Given the description of an element on the screen output the (x, y) to click on. 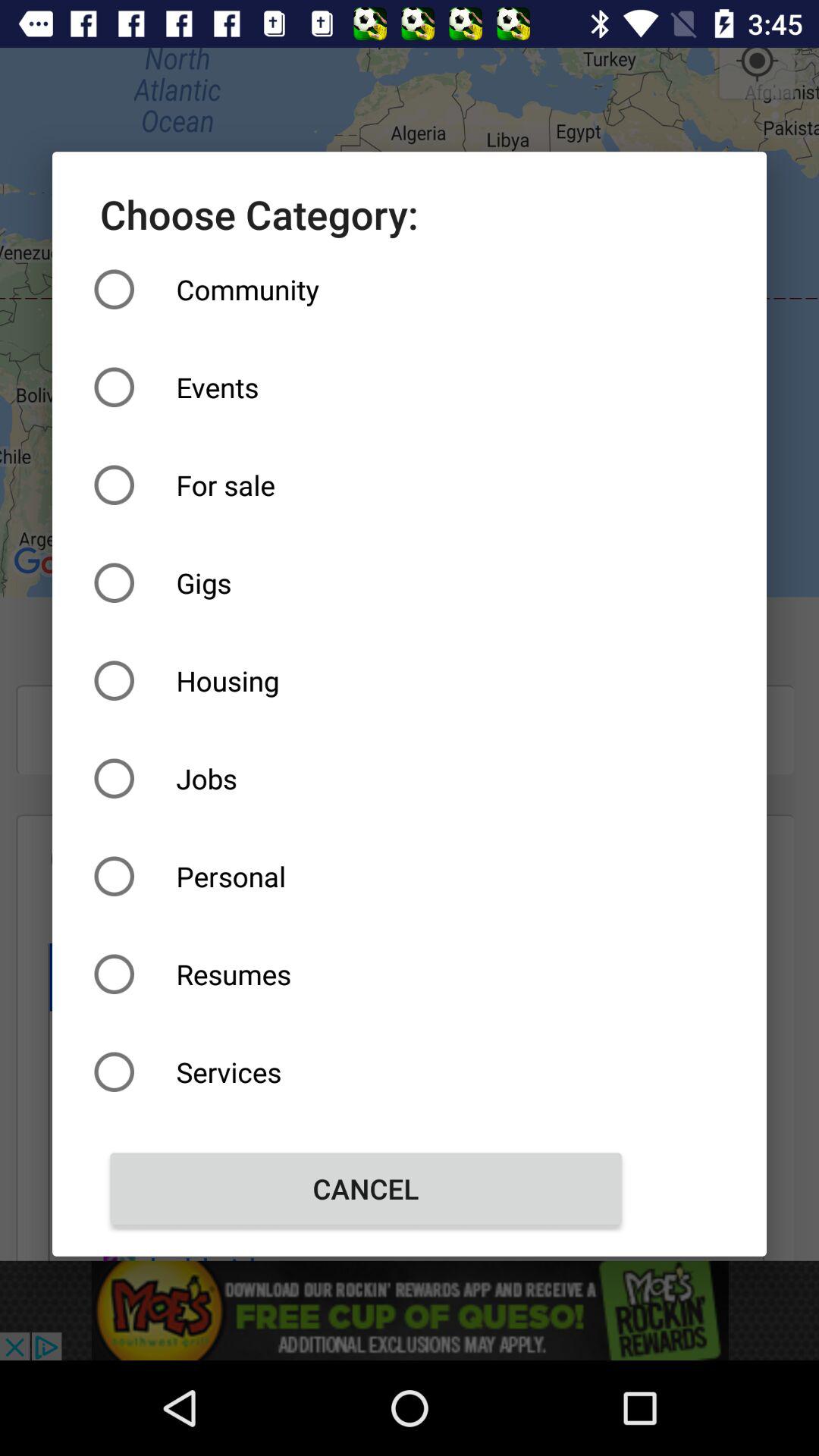
choose item above the jobs (365, 680)
